Given the description of an element on the screen output the (x, y) to click on. 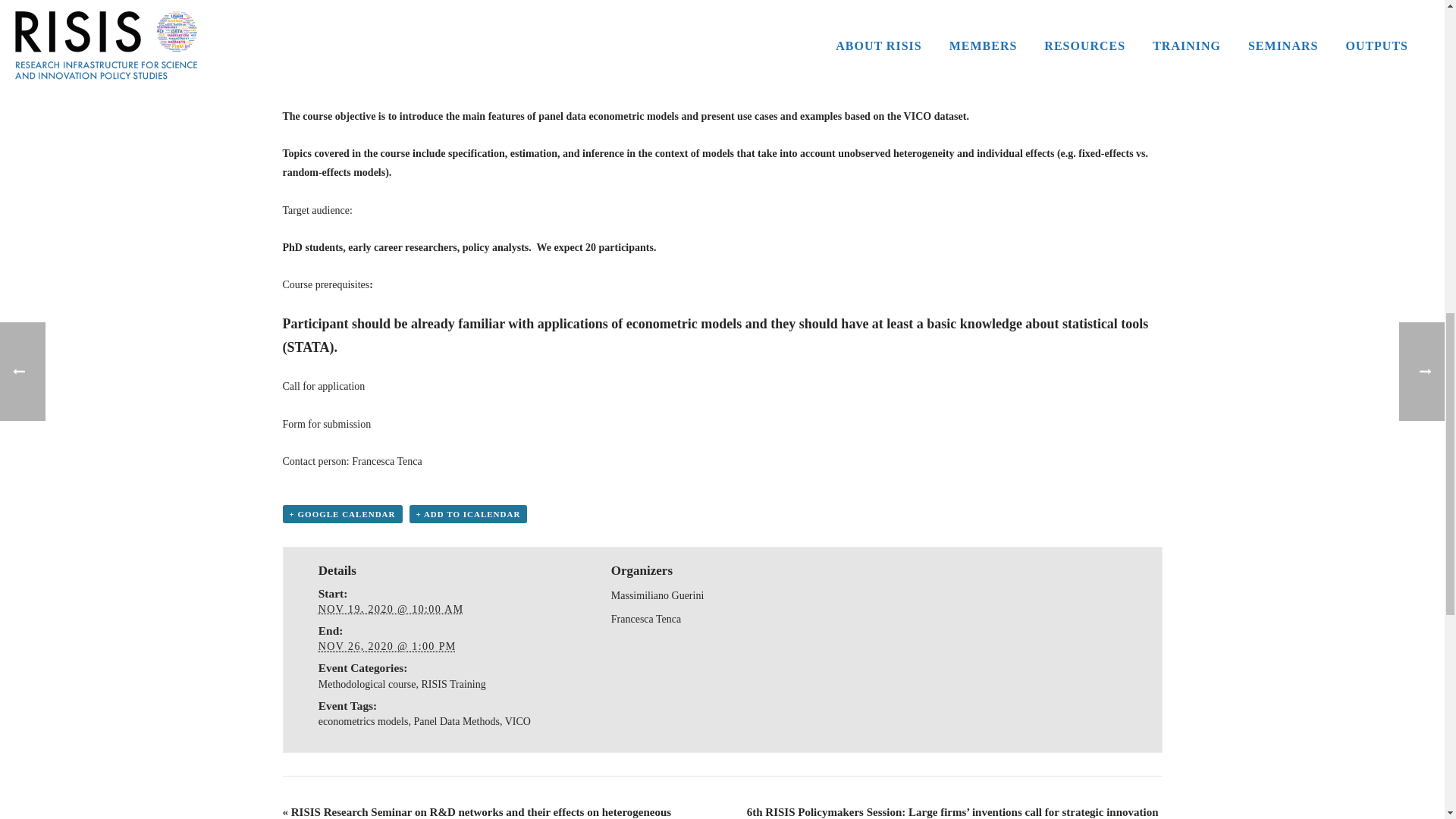
2020-11-19 (391, 609)
2020-11-26 (387, 645)
Download .ics file (468, 514)
Add to Google Calendar (341, 514)
